Given the description of an element on the screen output the (x, y) to click on. 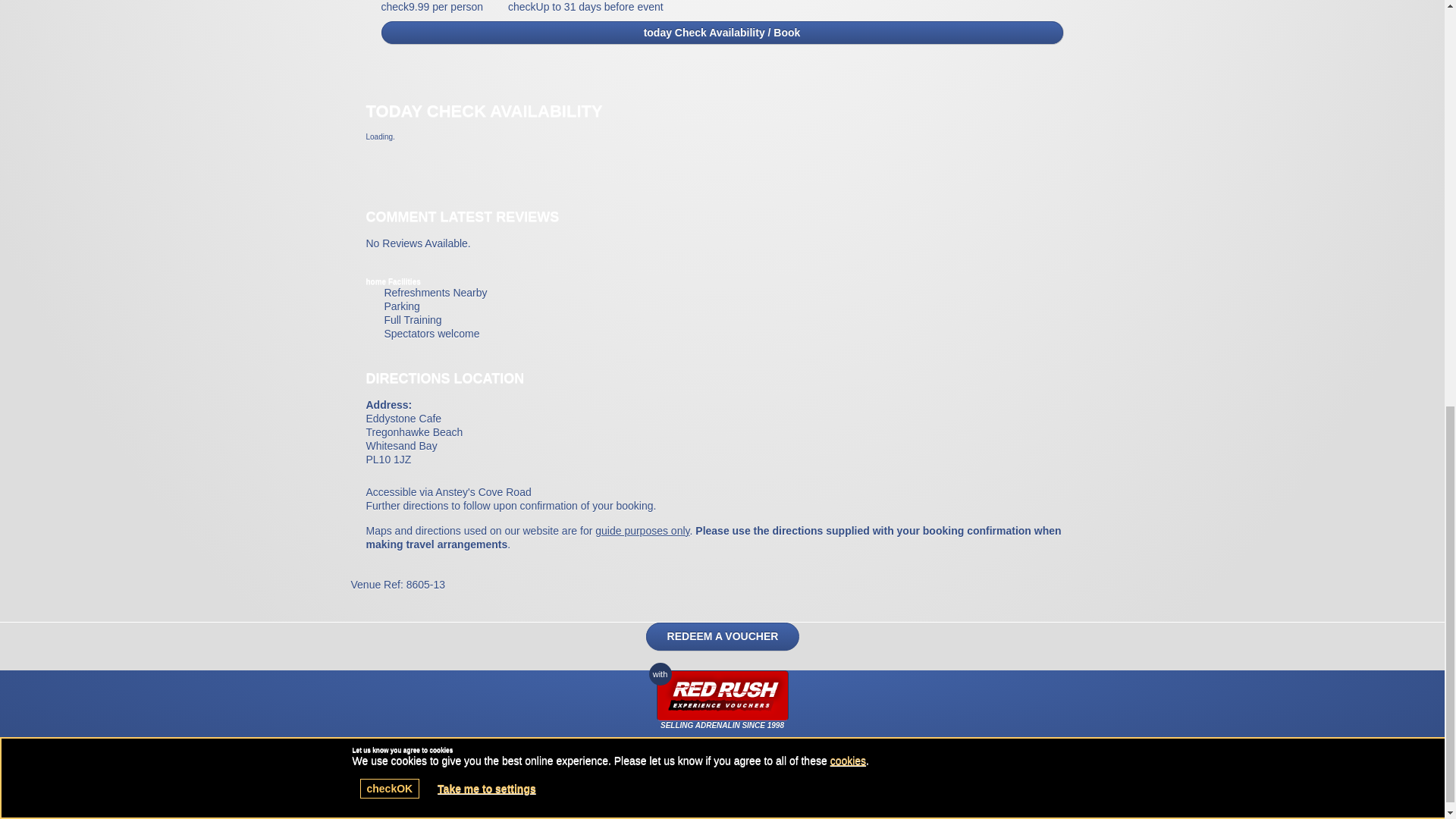
REDEEM A VOUCHER (722, 636)
Red Rush Vouchers (722, 695)
